Given the description of an element on the screen output the (x, y) to click on. 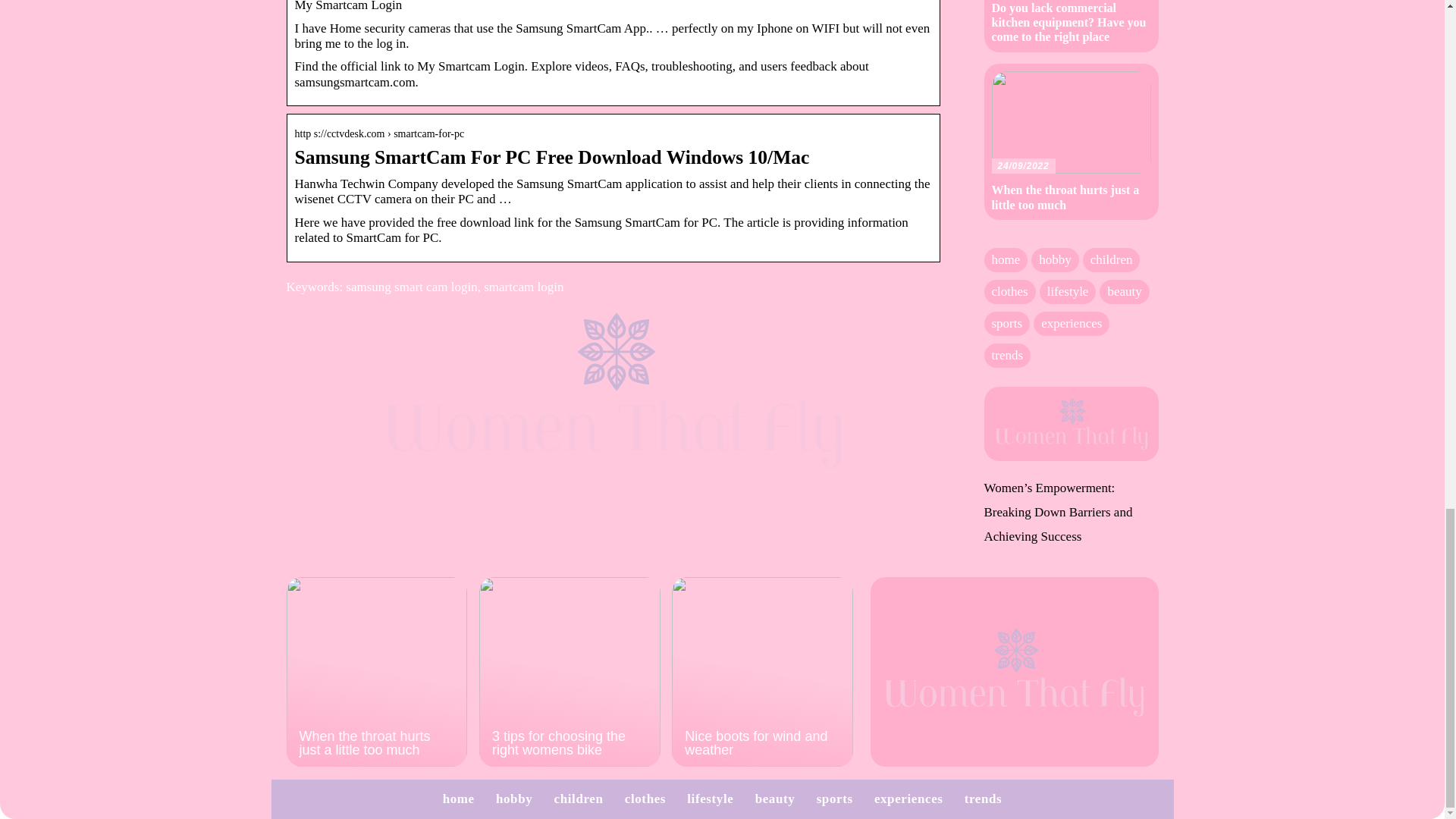
Nice boots for wind and weather (762, 671)
When the throat hurts just a little too much (376, 671)
3 tips for choosing the right womens bike (570, 671)
home (458, 798)
hobby (514, 798)
clothes (644, 798)
children (579, 798)
lifestyle (710, 798)
